Given the description of an element on the screen output the (x, y) to click on. 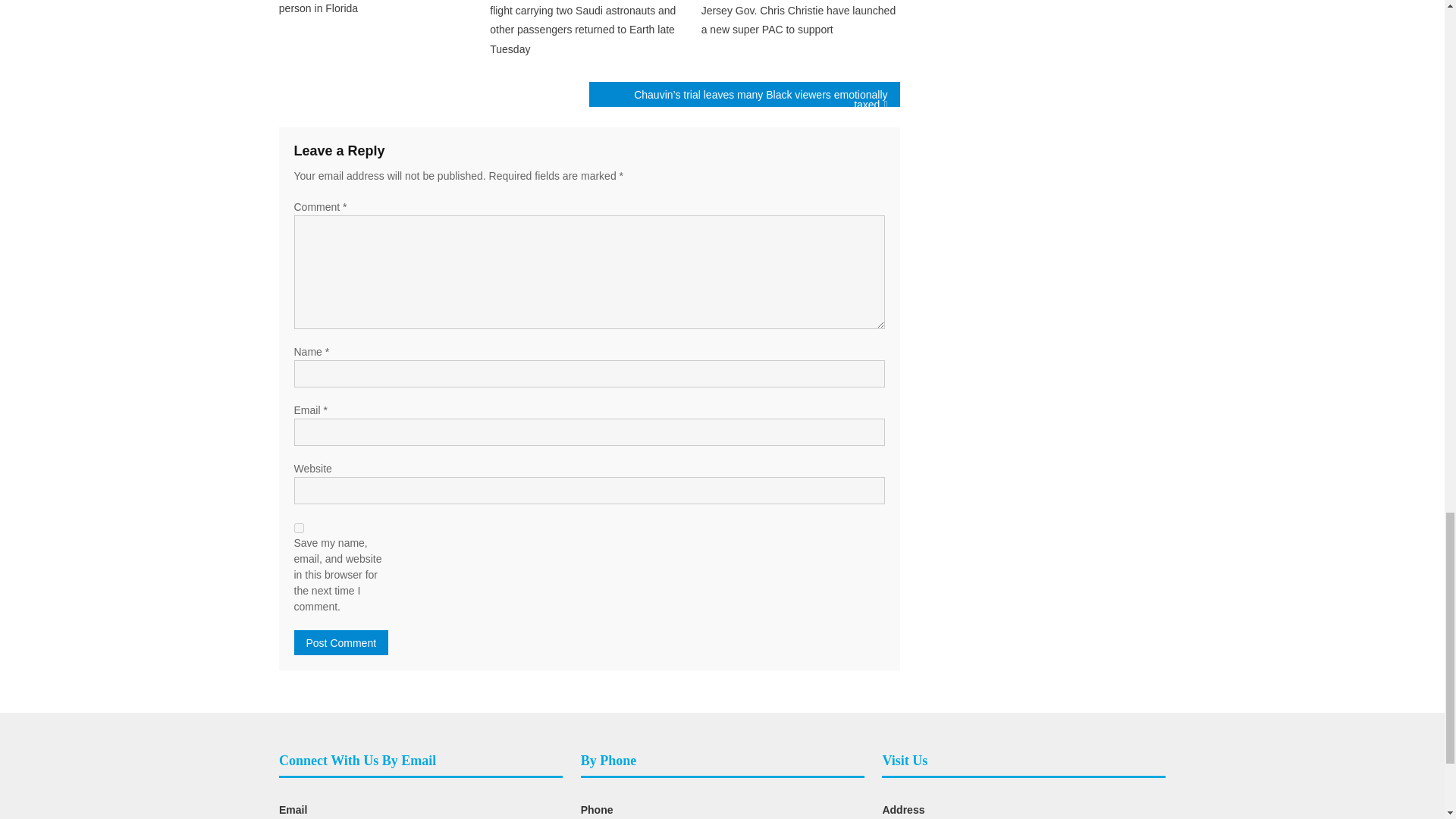
Post Comment (341, 642)
yes (299, 528)
Post Comment (341, 642)
